Given the description of an element on the screen output the (x, y) to click on. 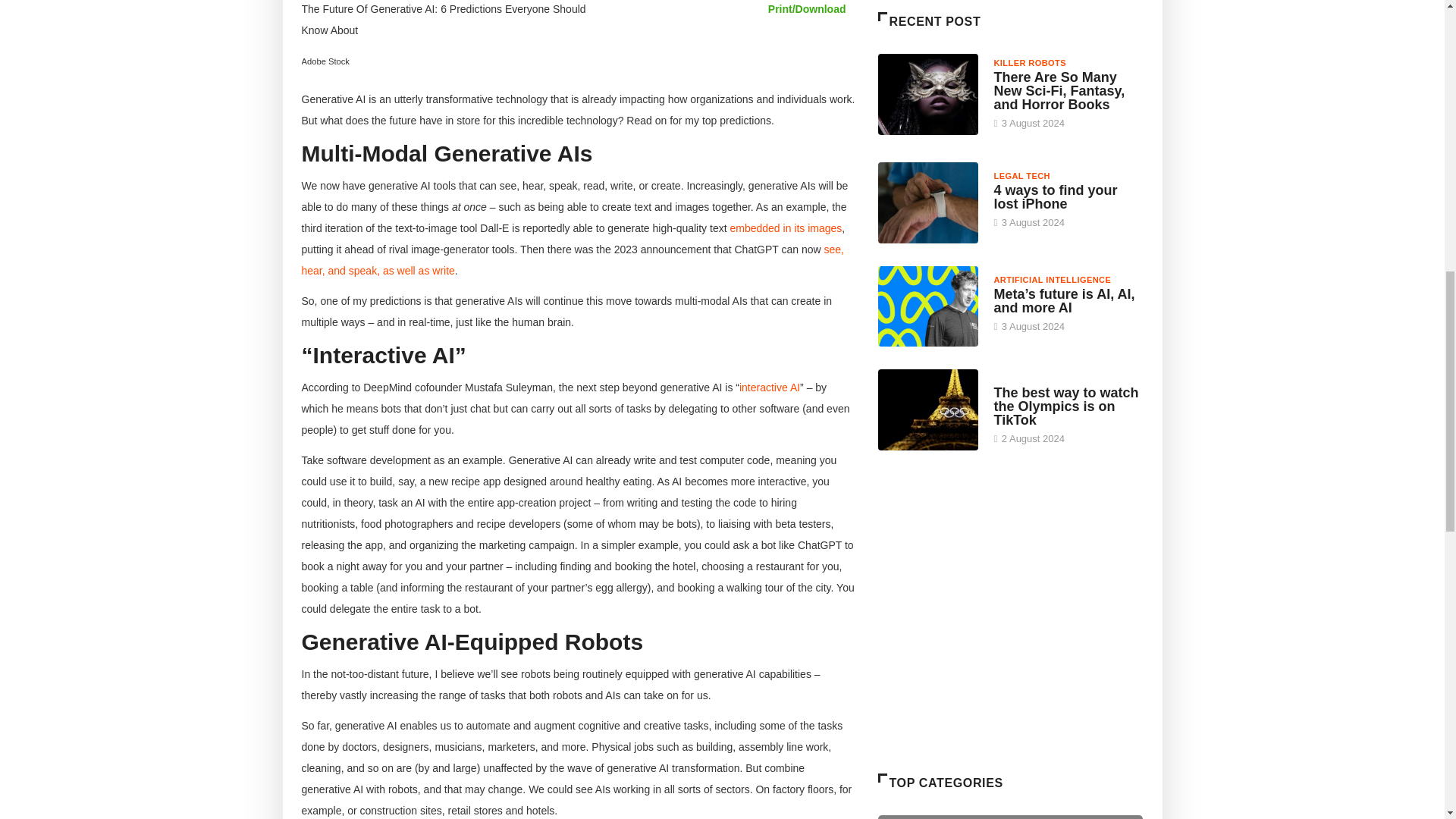
see, hear, and speak, as well as write (572, 259)
interactive AI (769, 387)
embedded in its images (785, 227)
